Given the description of an element on the screen output the (x, y) to click on. 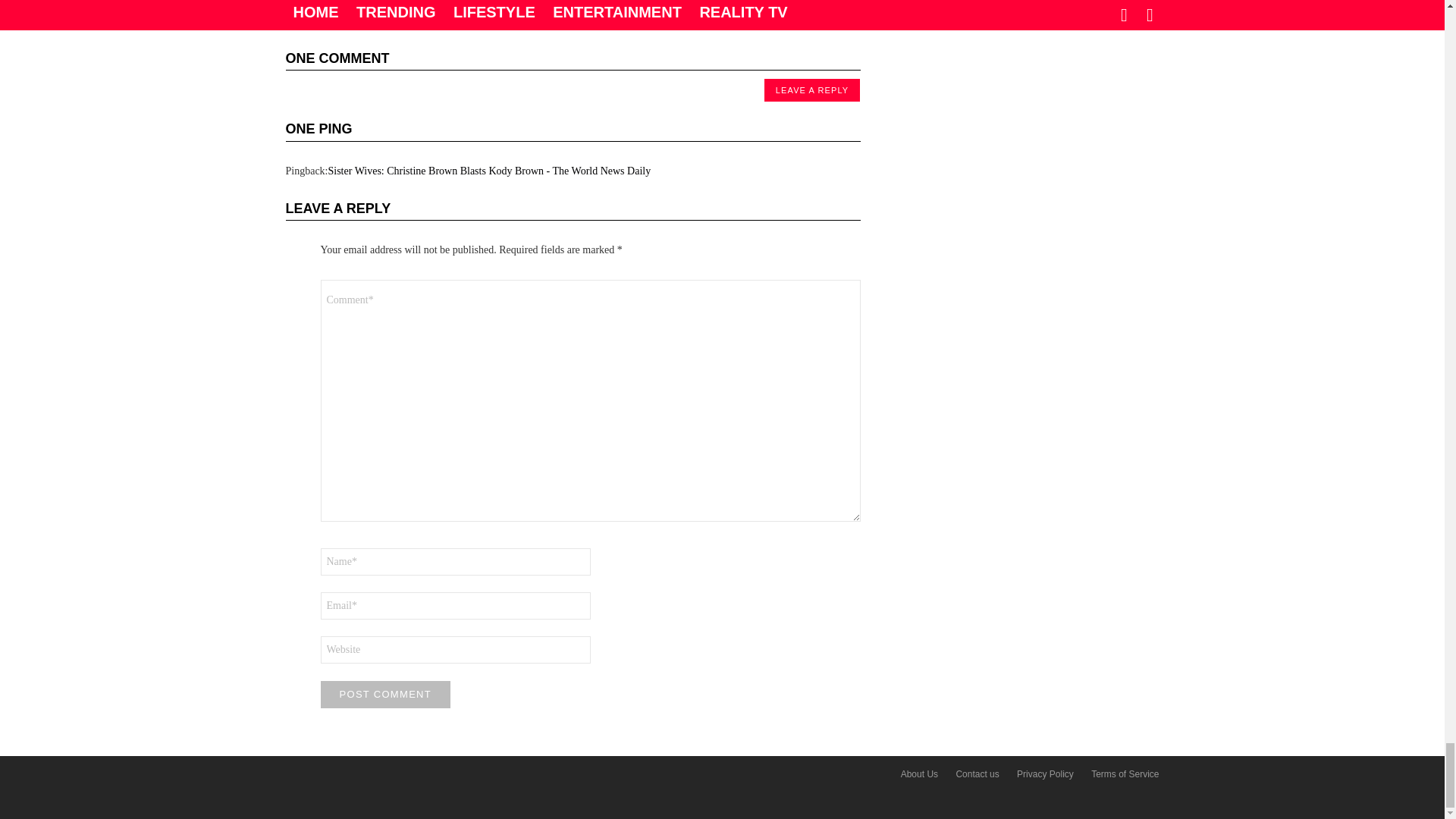
Post Comment (384, 694)
